Given the description of an element on the screen output the (x, y) to click on. 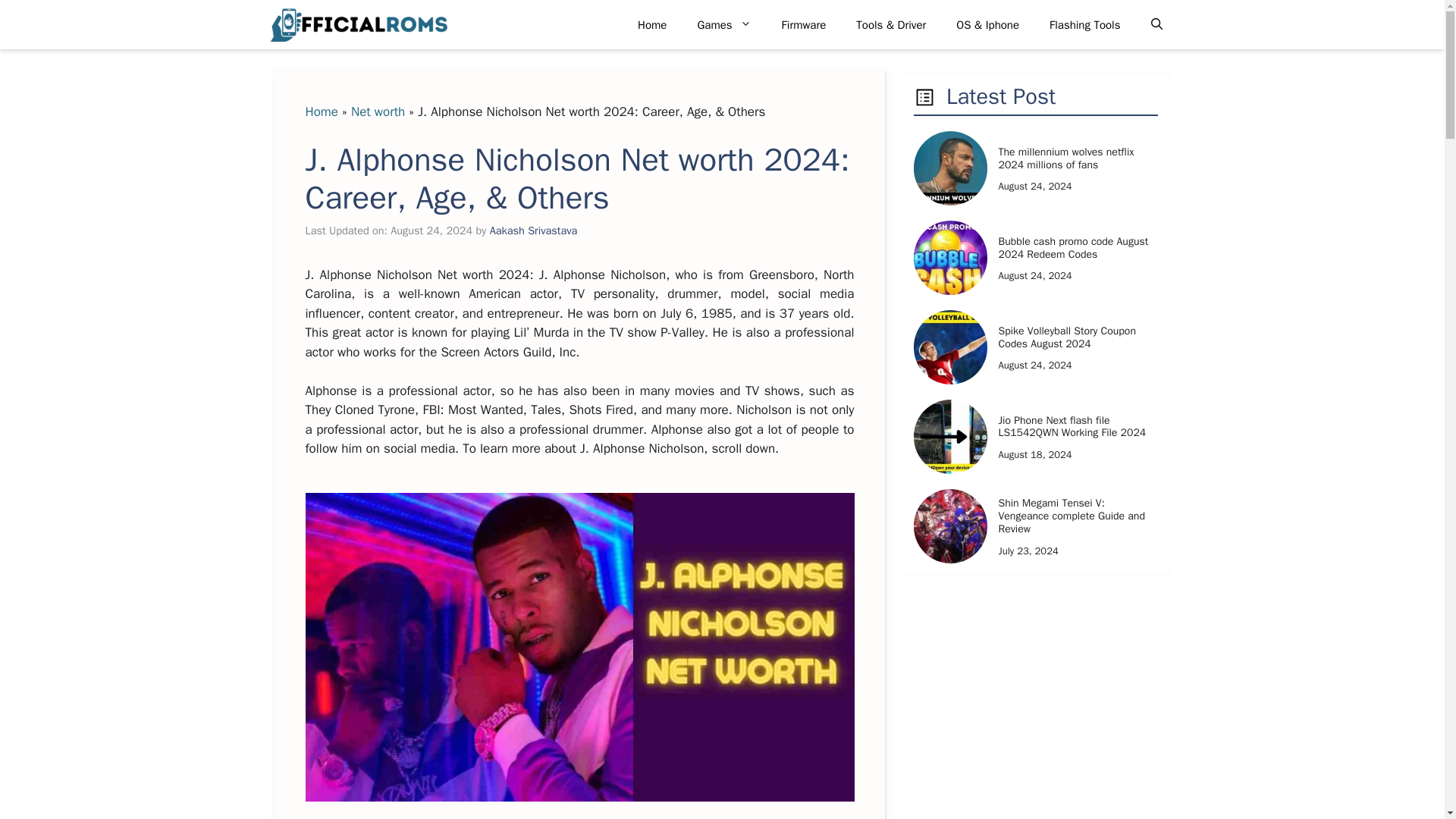
Flashing Tools (1084, 23)
Games (723, 23)
Officialroms (357, 24)
Home (652, 23)
Net worth (377, 111)
View all posts by Aakash Srivastava (533, 230)
Firmware (804, 23)
Home (320, 111)
Aakash Srivastava (533, 230)
